Given the description of an element on the screen output the (x, y) to click on. 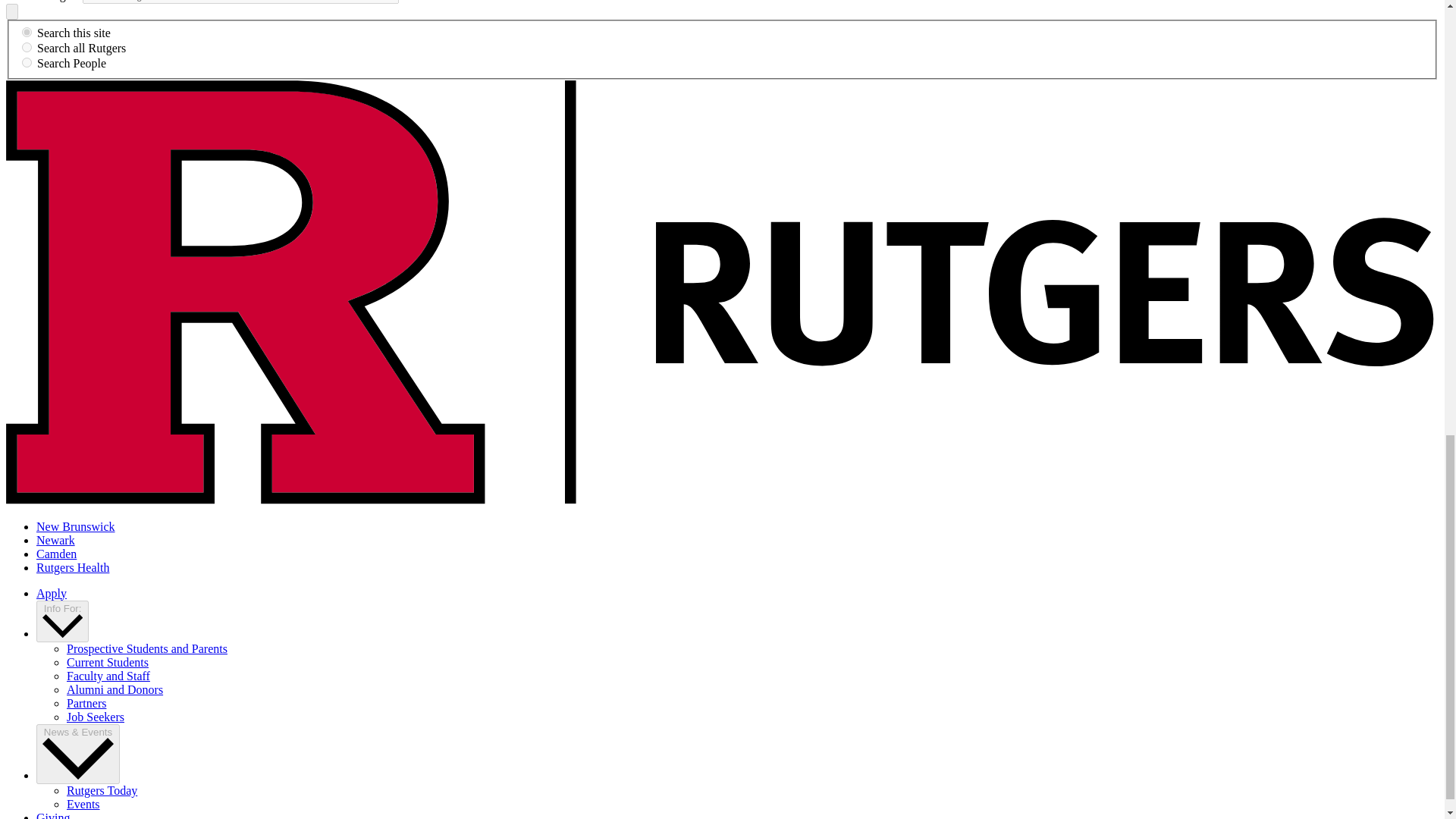
Alumni and Donors (114, 689)
Current Students (107, 662)
search-this-site (26, 31)
search-people (26, 62)
Rutgers Today (101, 789)
New Brunswick (75, 526)
search-all-rutgers (26, 47)
Prospective Students and Parents (146, 648)
Faculty and Staff (107, 675)
Job Seekers (94, 716)
Apply (51, 593)
Rutgers Health (72, 567)
Newark (55, 540)
Camden (56, 553)
Events (83, 803)
